Given the description of an element on the screen output the (x, y) to click on. 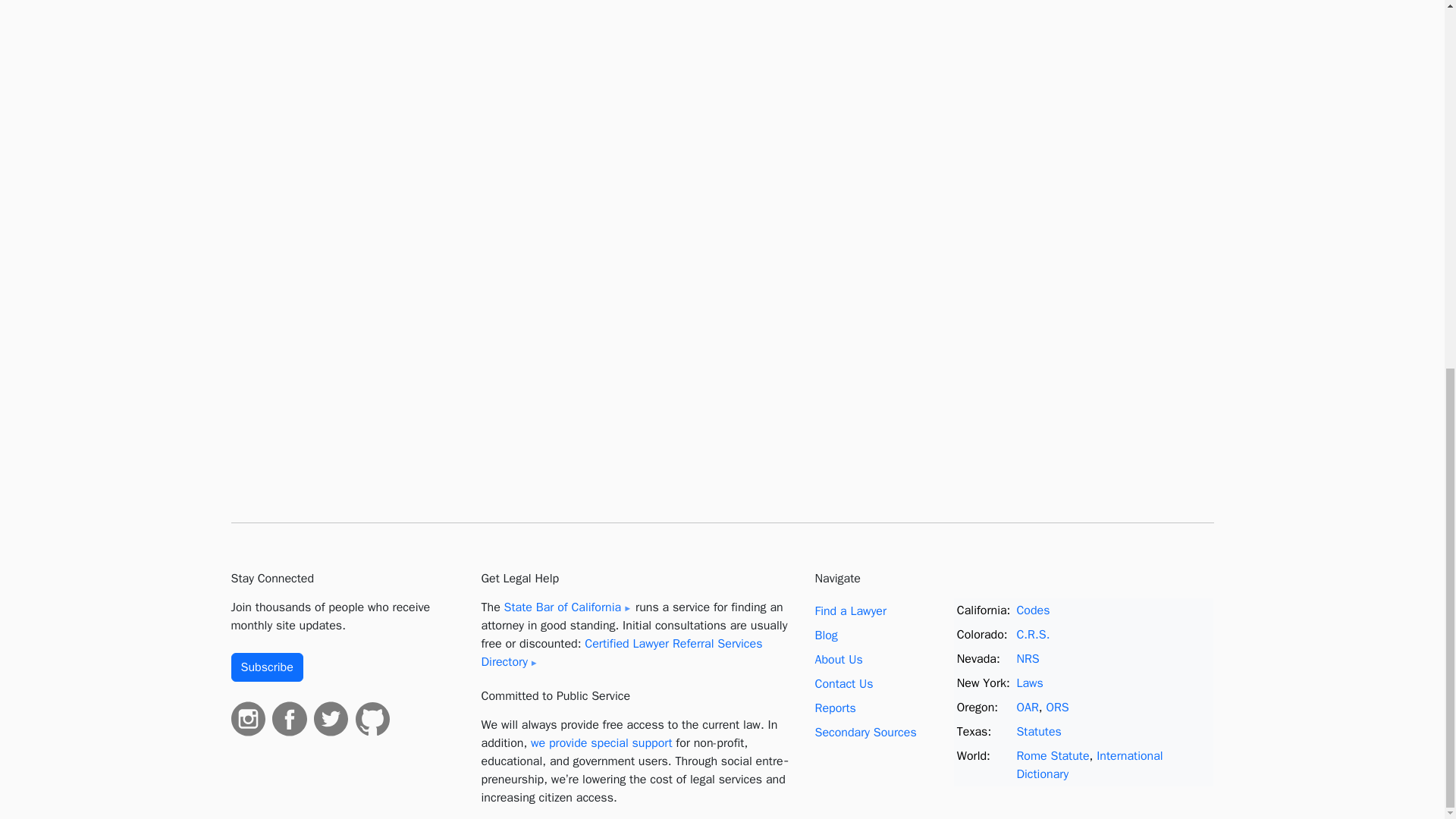
State Bar of California (567, 607)
Advertisement (1138, 258)
Subscribe (266, 666)
